Given the description of an element on the screen output the (x, y) to click on. 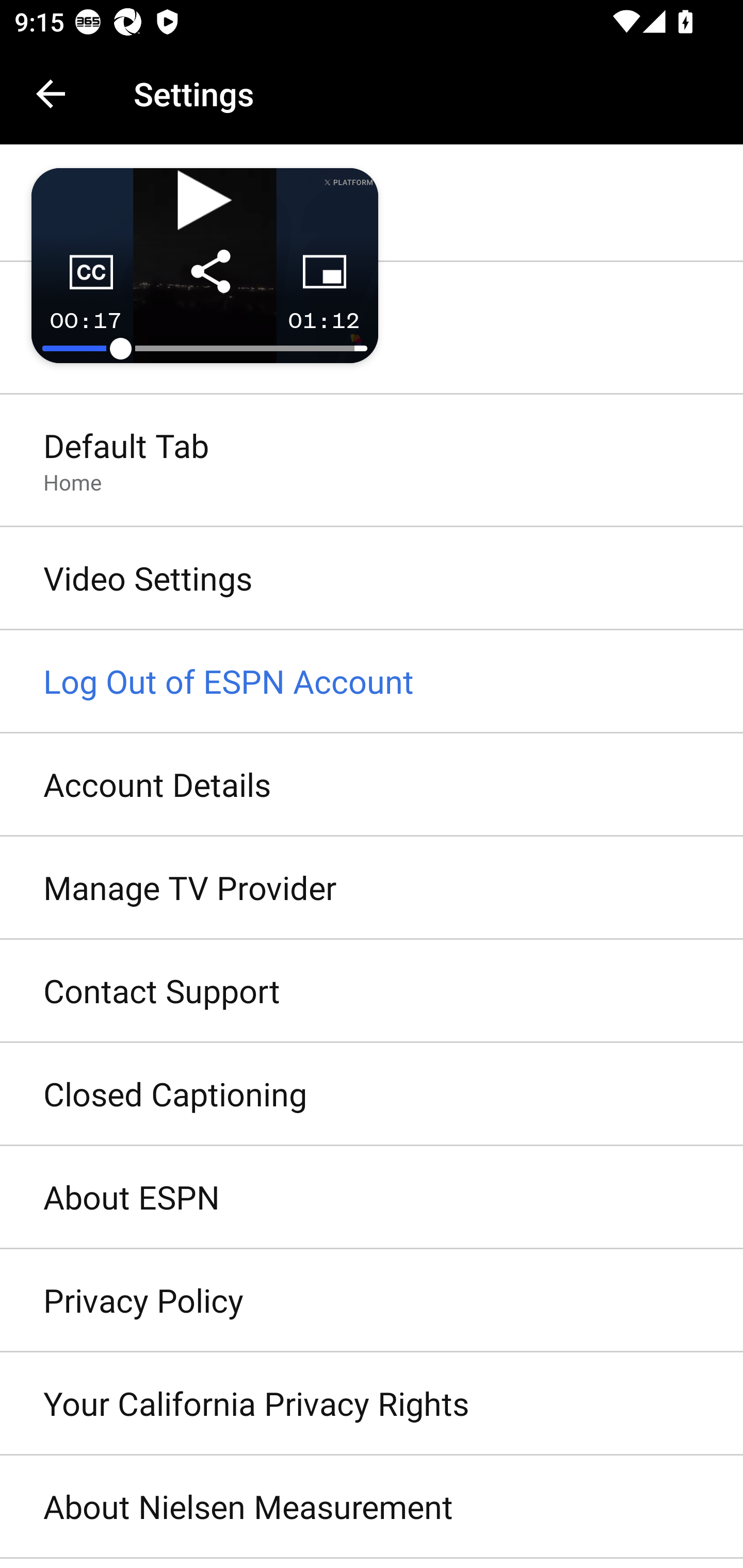
Navigate up (50, 93)
Default Tab Home (371, 461)
Video Settings (371, 578)
Log Out of ESPN Account (371, 681)
Account Details (371, 785)
Manage TV Provider (371, 888)
Contact Support (371, 990)
Closed Captioning (371, 1094)
About ESPN (371, 1197)
Privacy Policy (371, 1301)
Your California Privacy Rights (371, 1403)
About Nielsen Measurement (371, 1506)
